Given the description of an element on the screen output the (x, y) to click on. 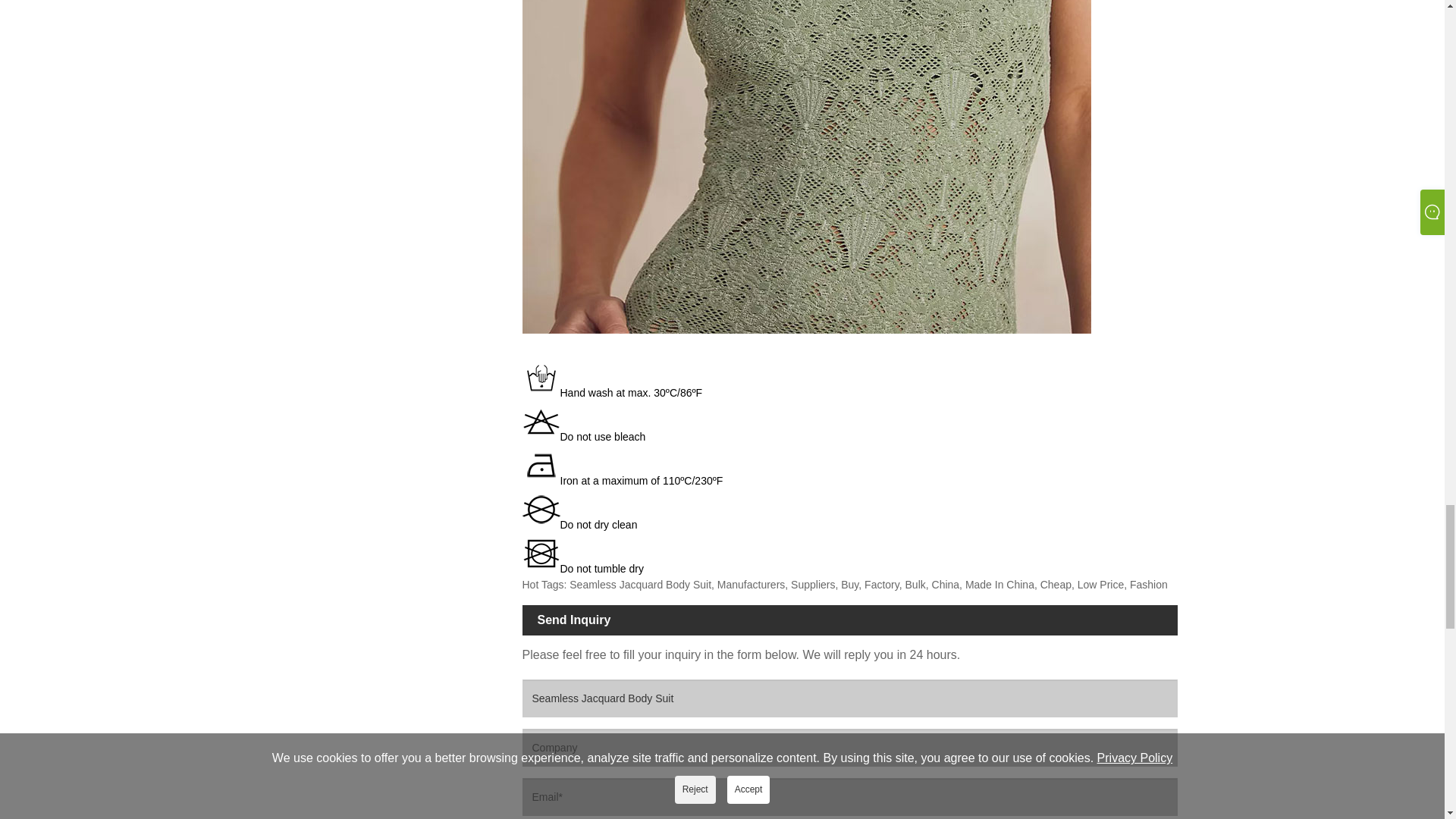
Seamless Jacquard Body Suit (848, 698)
